Given the description of an element on the screen output the (x, y) to click on. 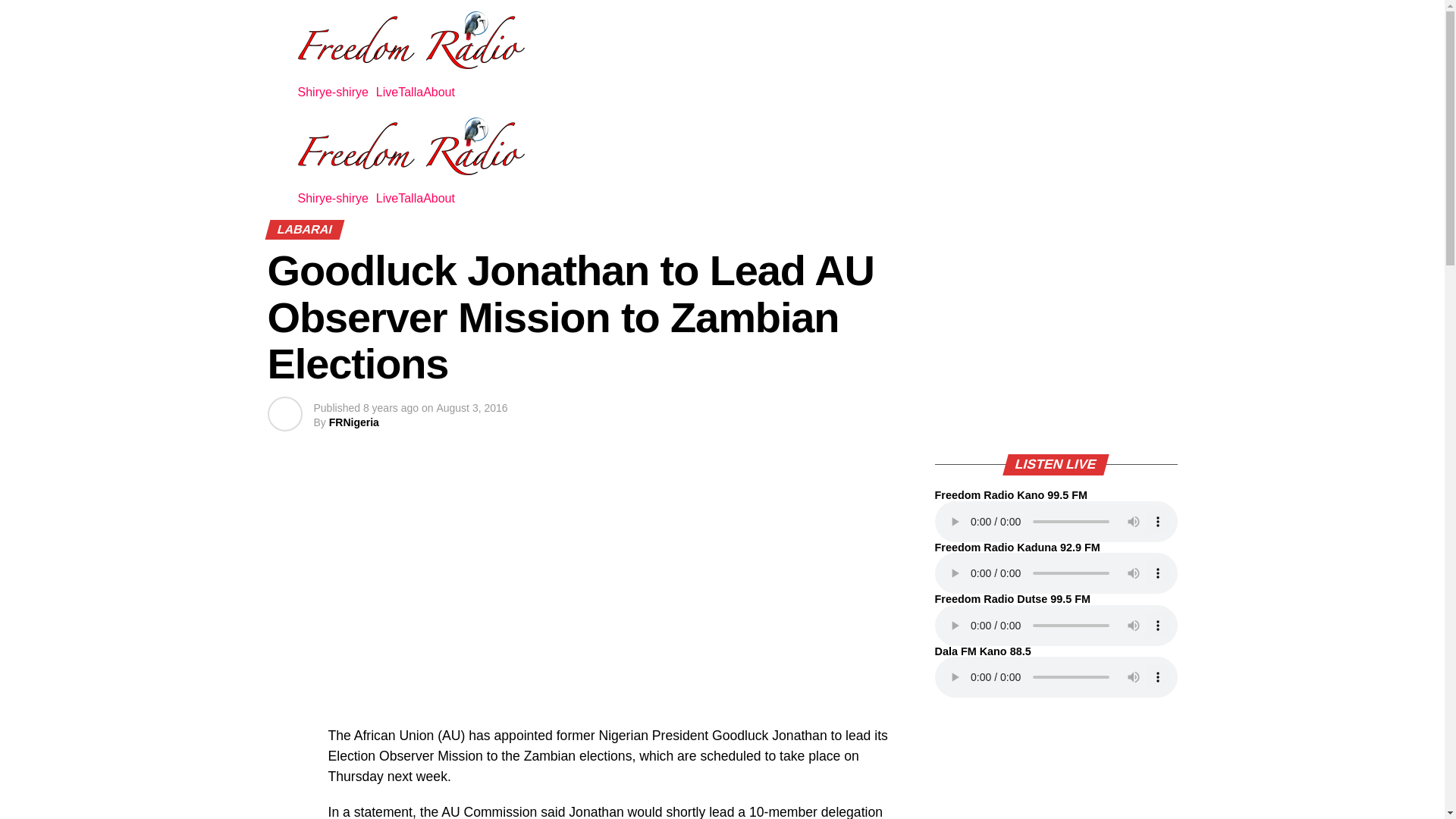
Talla (410, 92)
FRNigeria (353, 422)
Live (386, 198)
About (443, 92)
About (443, 198)
Talla (410, 198)
Shirye-shirye (336, 92)
Posts by FRNigeria (353, 422)
Shirye-shirye (336, 198)
Live (386, 92)
